Given the description of an element on the screen output the (x, y) to click on. 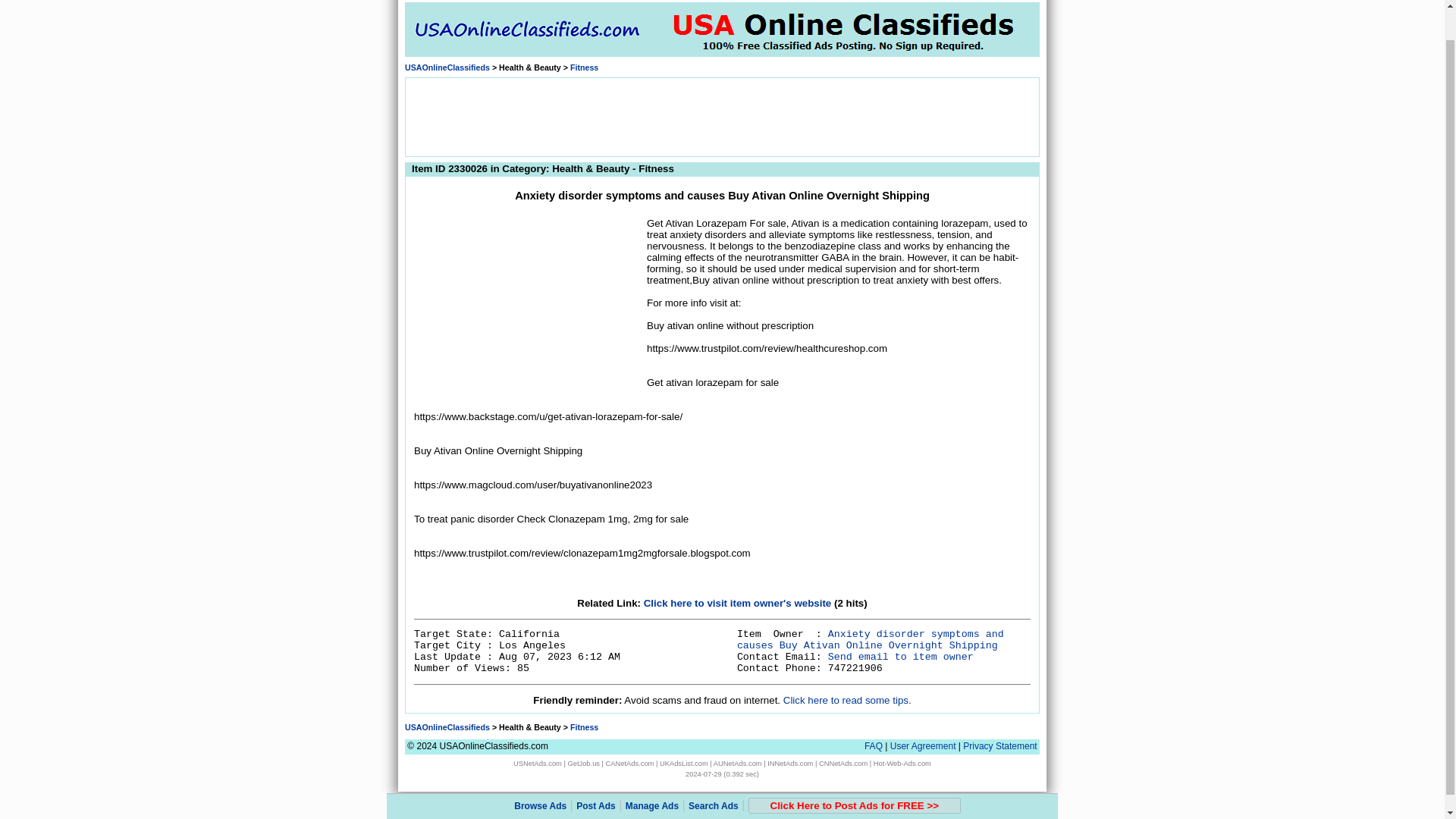
Hot-Web-Ads.com (902, 763)
Advertisement (721, 115)
Go Back to USAOnlineClassifieds.com Home Page (446, 67)
Browse all items posted by this owner (870, 639)
INNetAds.com (789, 763)
USAOnlineClassifieds (446, 727)
USAOnlineClassifieds (446, 67)
Browse Ads (539, 774)
Manage Ads (652, 774)
User Agreement (922, 746)
Search Ads (713, 774)
UKAdsList.com (683, 763)
Send email to item owner (901, 656)
Click here to read some tips. (847, 699)
AUNetAds.com (737, 763)
